Given the description of an element on the screen output the (x, y) to click on. 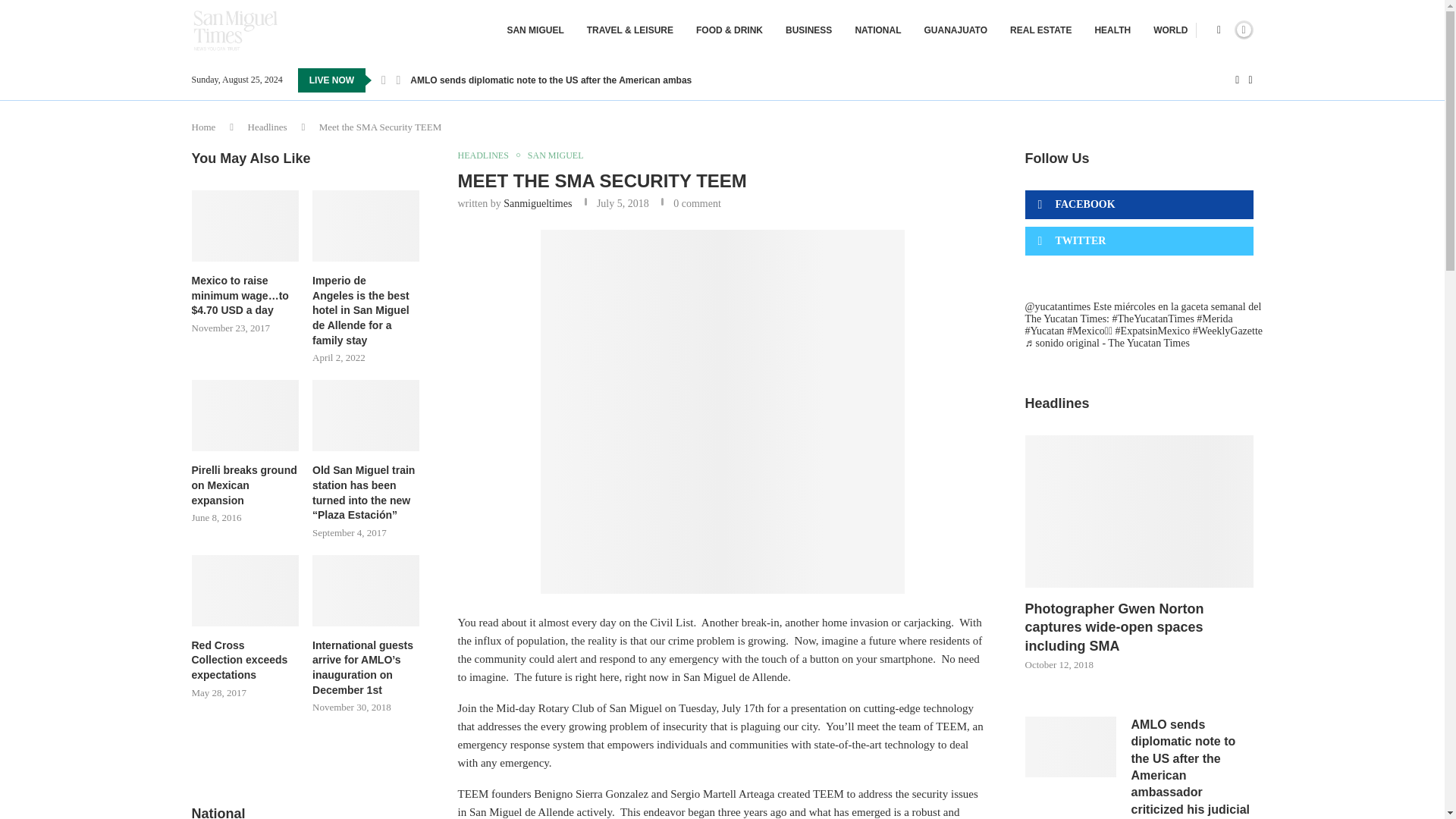
REAL ESTATE (1040, 30)
SAN MIGUEL (534, 30)
NATIONAL (877, 30)
BUSINESS (808, 30)
GUANAJUATO (955, 30)
teem (722, 411)
